Given the description of an element on the screen output the (x, y) to click on. 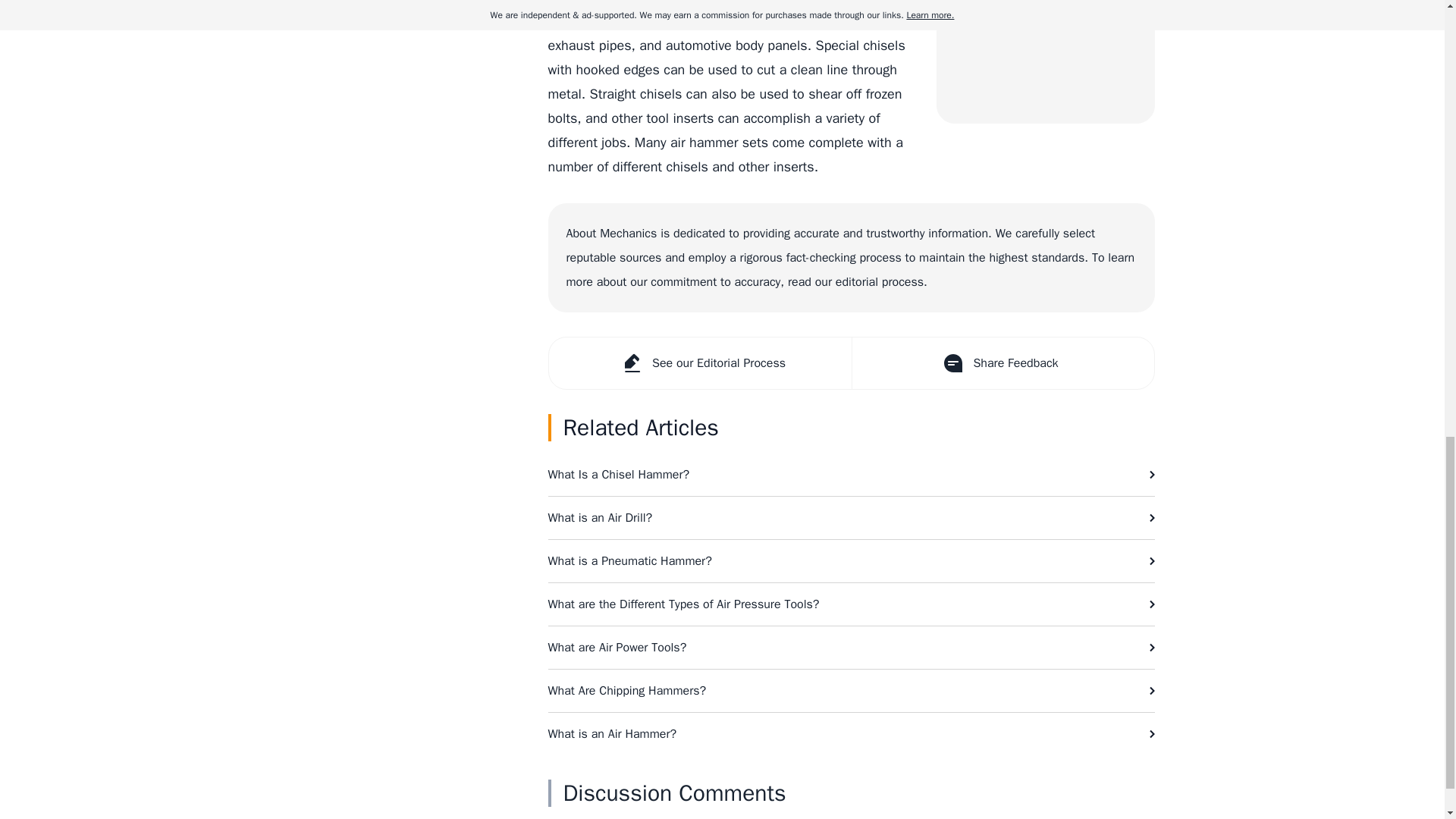
What are the Different Types of Air Pressure Tools? (850, 604)
What is an Air Drill? (850, 517)
What Is a Chisel Hammer? (850, 474)
What Are Chipping Hammers? (850, 690)
sheet metal (850, 21)
See our Editorial Process (699, 363)
What is a Pneumatic Hammer? (850, 560)
Share Feedback (1001, 363)
What are Air Power Tools? (850, 647)
